Given the description of an element on the screen output the (x, y) to click on. 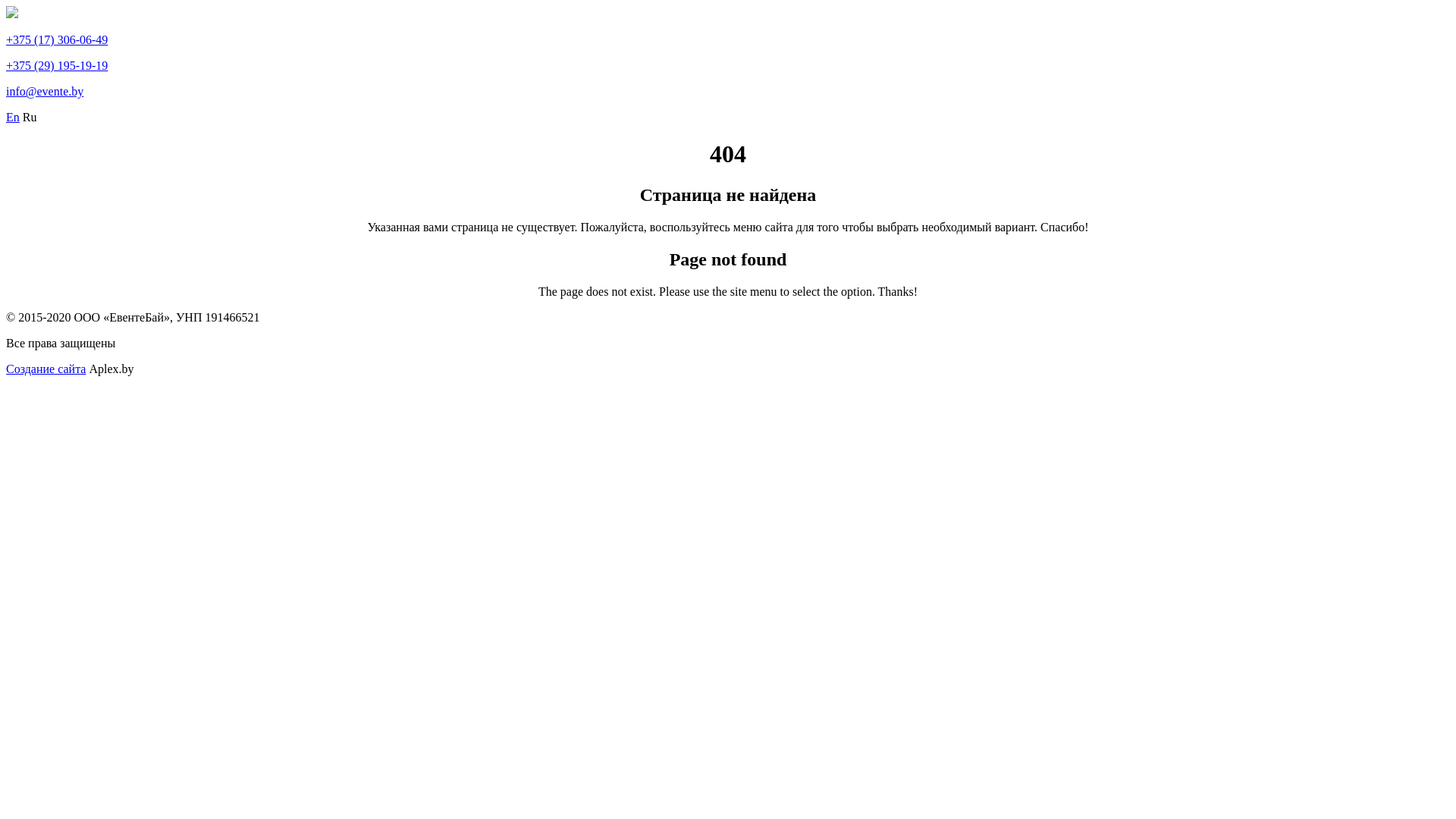
+375 (29) 195-19-19 Element type: text (56, 65)
Ru Element type: text (29, 116)
info@evente.by Element type: text (44, 90)
En Element type: text (12, 116)
+375 (17) 306-06-49 Element type: text (56, 39)
